Given the description of an element on the screen output the (x, y) to click on. 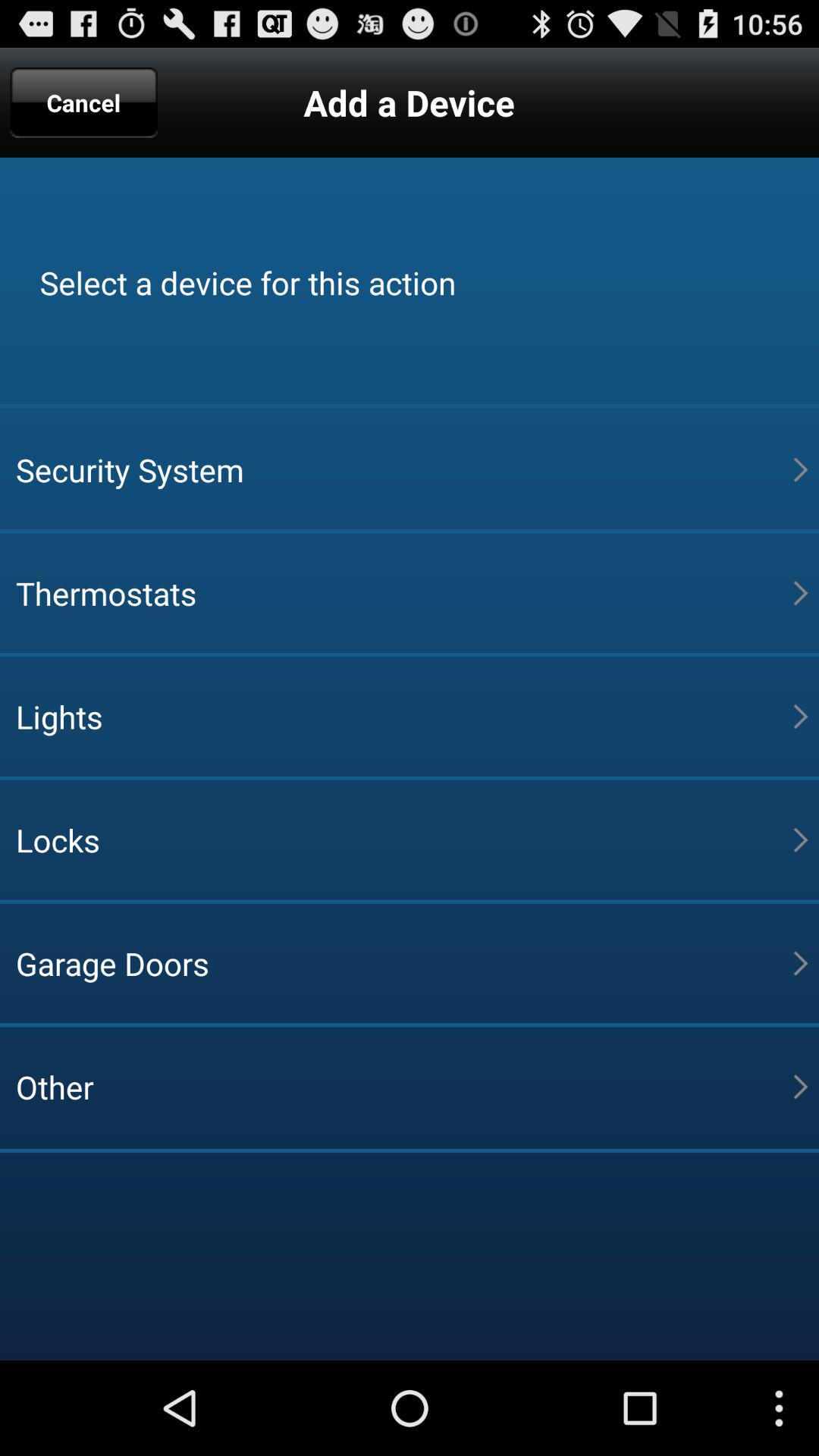
tap the garage doors (403, 963)
